Given the description of an element on the screen output the (x, y) to click on. 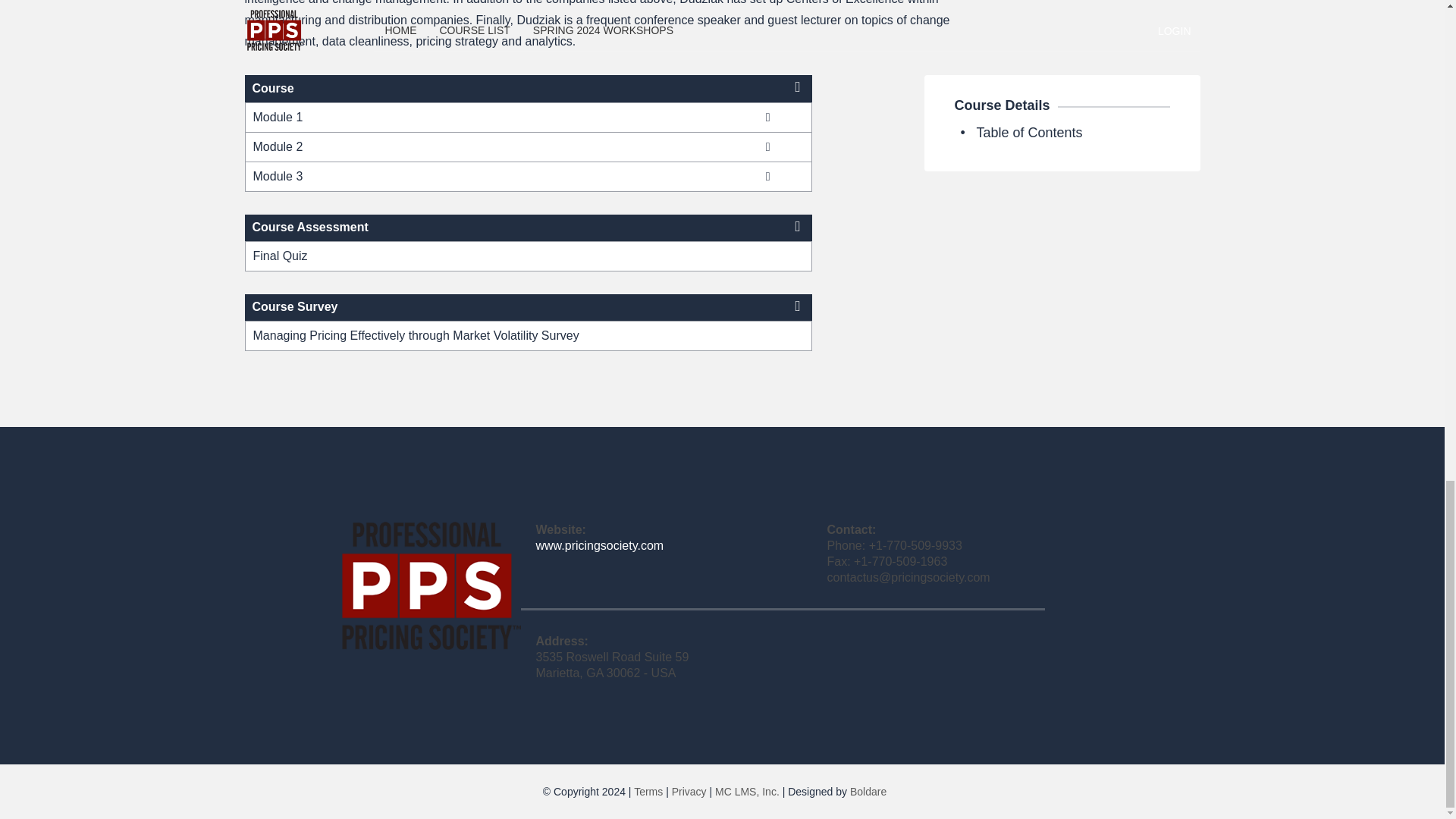
www.pricingsociety.com (599, 545)
Privacy (688, 791)
Table of Contents (1027, 132)
Terms (647, 791)
Boldare (868, 791)
MC LMS, Inc. (746, 791)
